Given the description of an element on the screen output the (x, y) to click on. 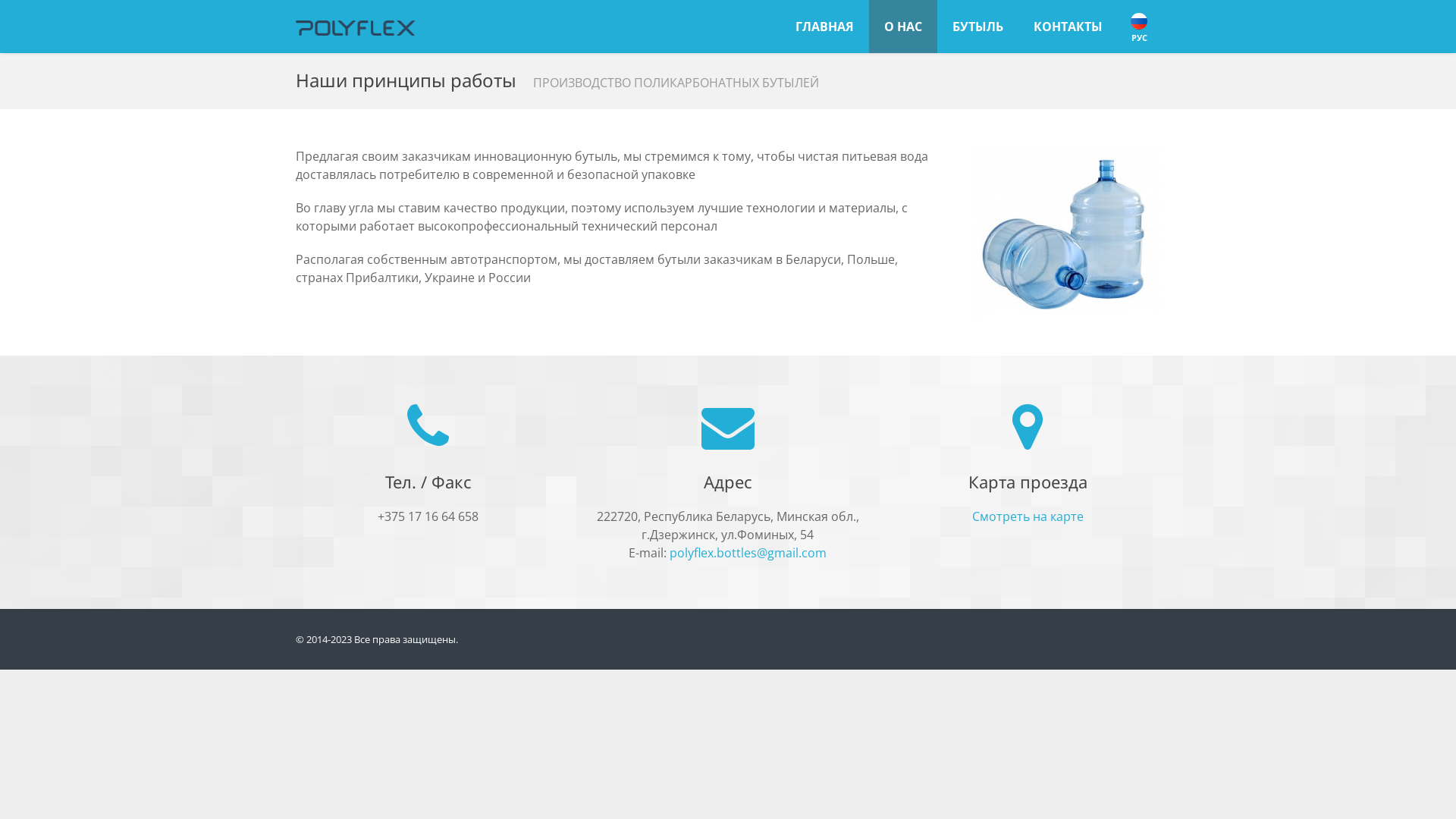
polyflex.bottles@gmail.com Element type: text (747, 552)
